Given the description of an element on the screen output the (x, y) to click on. 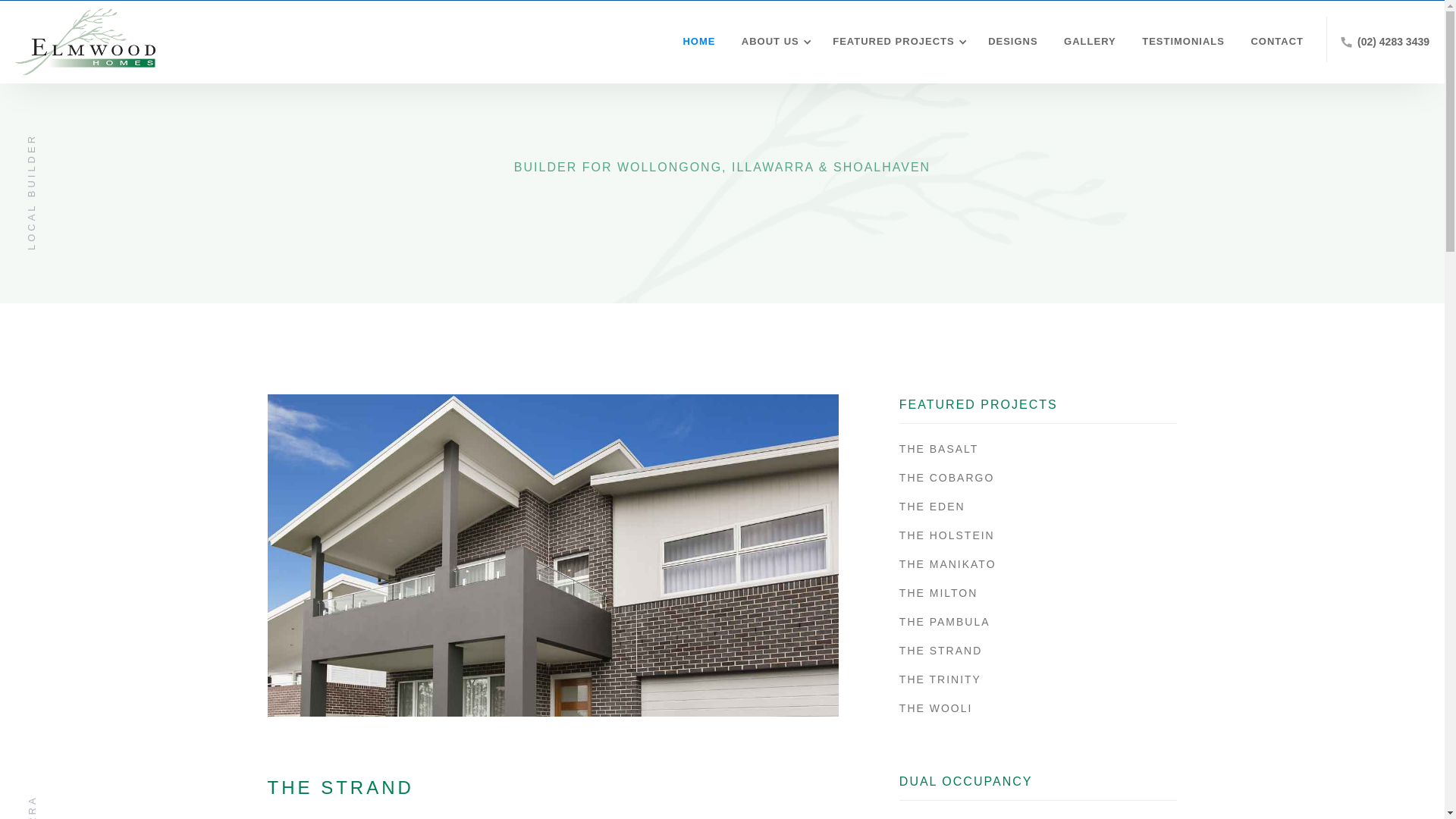
THE TRINITY Element type: text (1038, 679)
THE HOLSTEIN Element type: text (1038, 535)
THE EDEN Element type: text (1038, 506)
CONTACT Element type: text (1273, 41)
THE WOOLI Element type: text (1038, 708)
HOME Element type: text (694, 41)
THE BASALT Element type: text (1038, 448)
THE COBARGO Element type: text (1038, 477)
TESTIMONIALS Element type: text (1179, 41)
DESIGNS Element type: text (1008, 41)
THE MILTON Element type: text (1038, 592)
THE MANIKATO Element type: text (1038, 564)
GALLERY Element type: text (1085, 41)
THE PAMBULA Element type: text (1038, 621)
THE STRAND Element type: text (1038, 650)
